Given the description of an element on the screen output the (x, y) to click on. 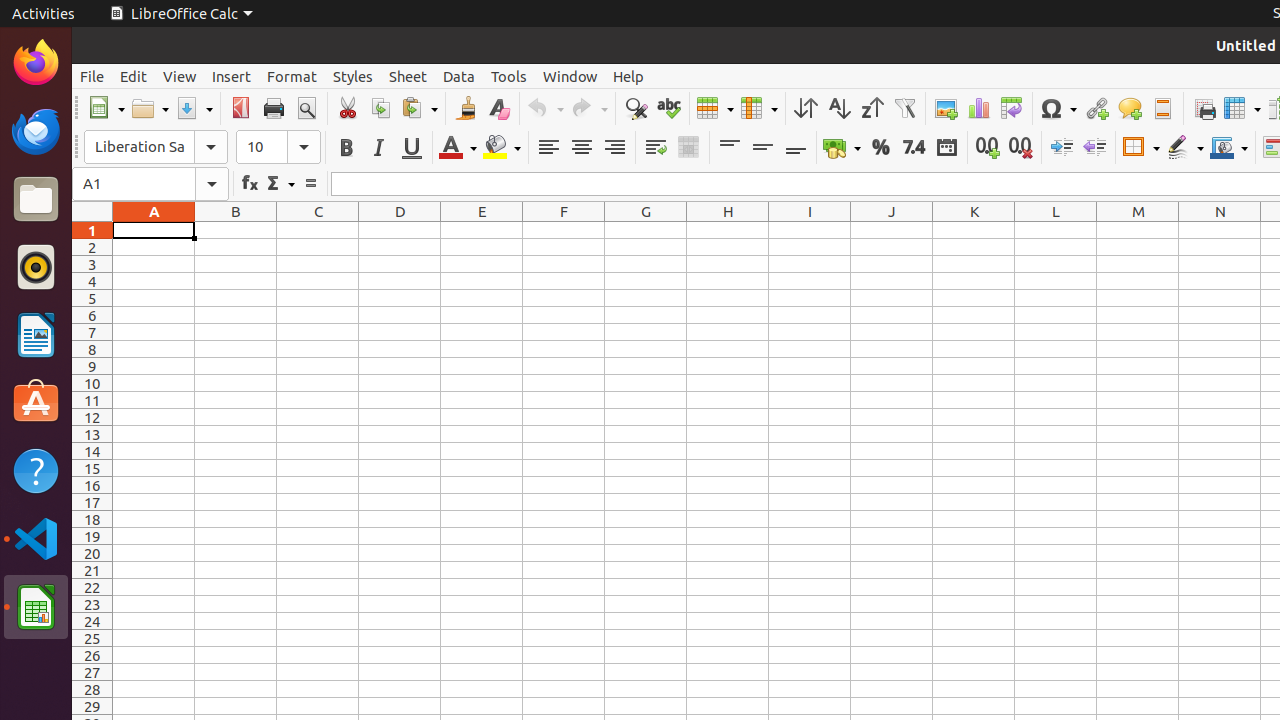
Comment Element type: push-button (1129, 108)
Center Vertically Element type: push-button (762, 147)
K1 Element type: table-cell (974, 230)
Increase Element type: push-button (1061, 147)
Align Top Element type: push-button (729, 147)
